Given the description of an element on the screen output the (x, y) to click on. 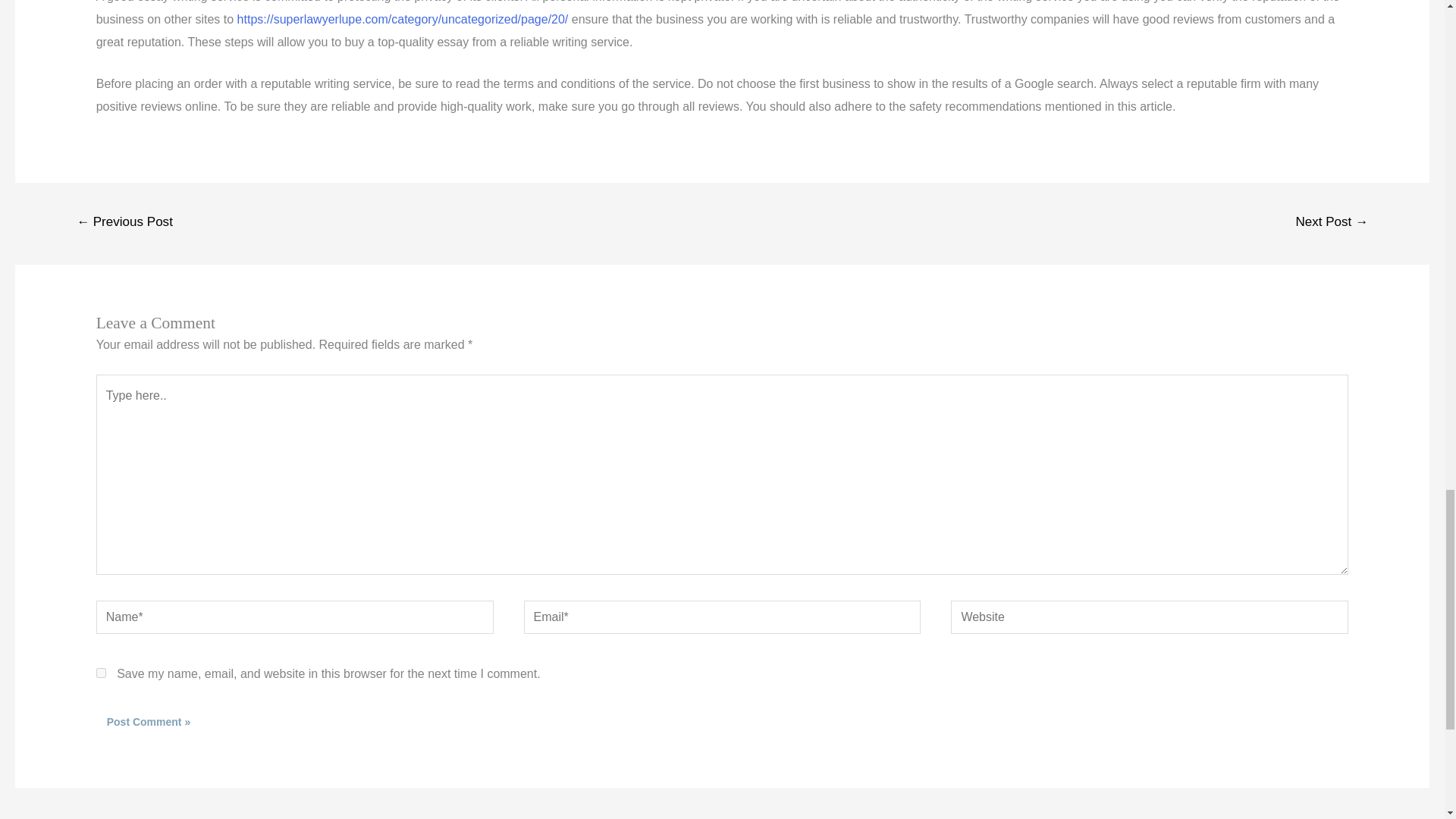
yes (101, 673)
